Given the description of an element on the screen output the (x, y) to click on. 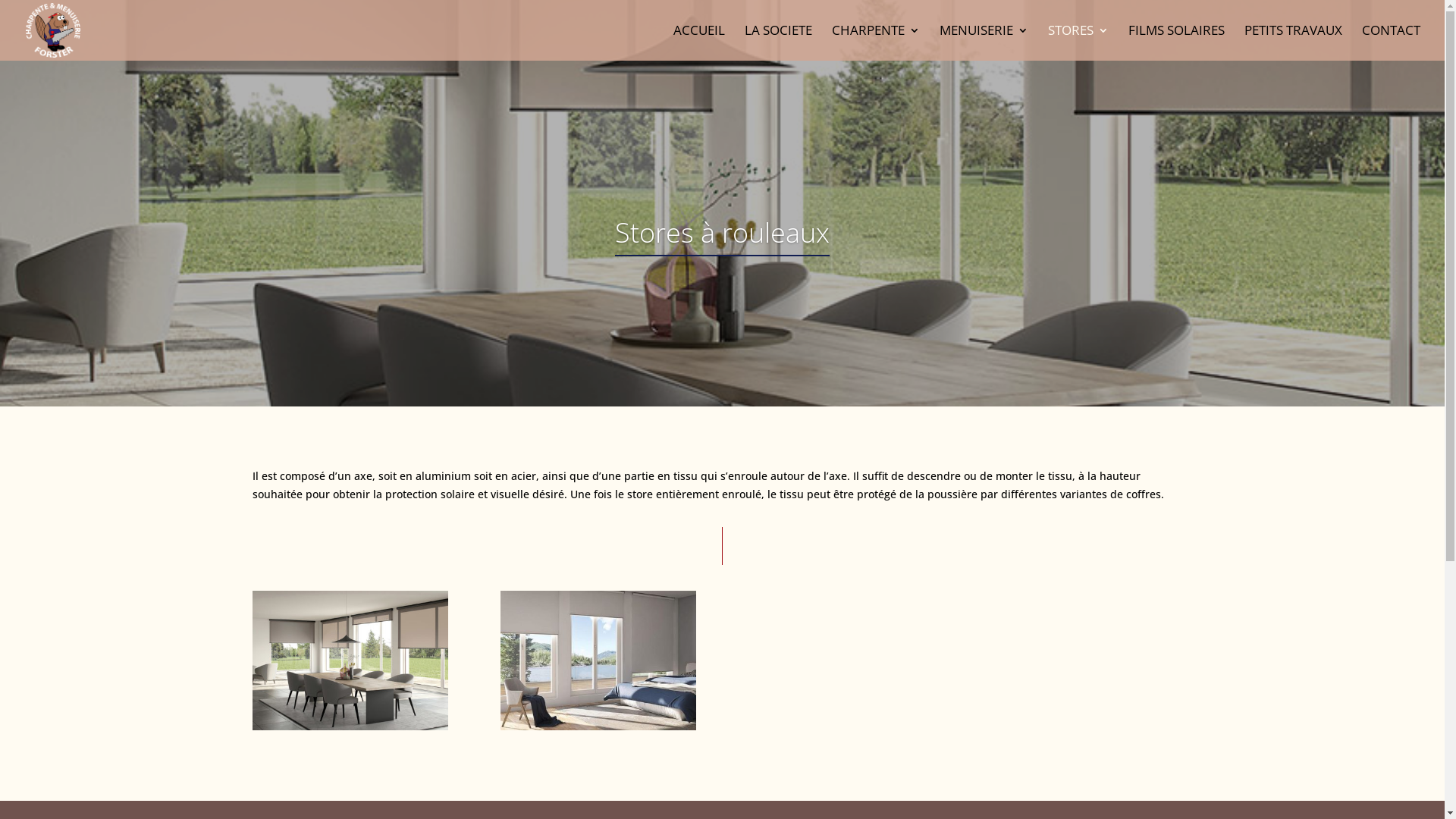
CONTACT Element type: text (1390, 42)
MHZ store rouleau Element type: hover (349, 725)
PETITS TRAVAUX Element type: text (1293, 42)
CHARPENTE Element type: text (875, 42)
ACCUEIL Element type: text (698, 42)
LA SOCIETE Element type: text (778, 42)
STORES Element type: text (1078, 42)
MENUISERIE Element type: text (983, 42)
FILMS SOLAIRES Element type: text (1176, 42)
MHZ store rouleau2 Element type: hover (598, 725)
